Given the description of an element on the screen output the (x, y) to click on. 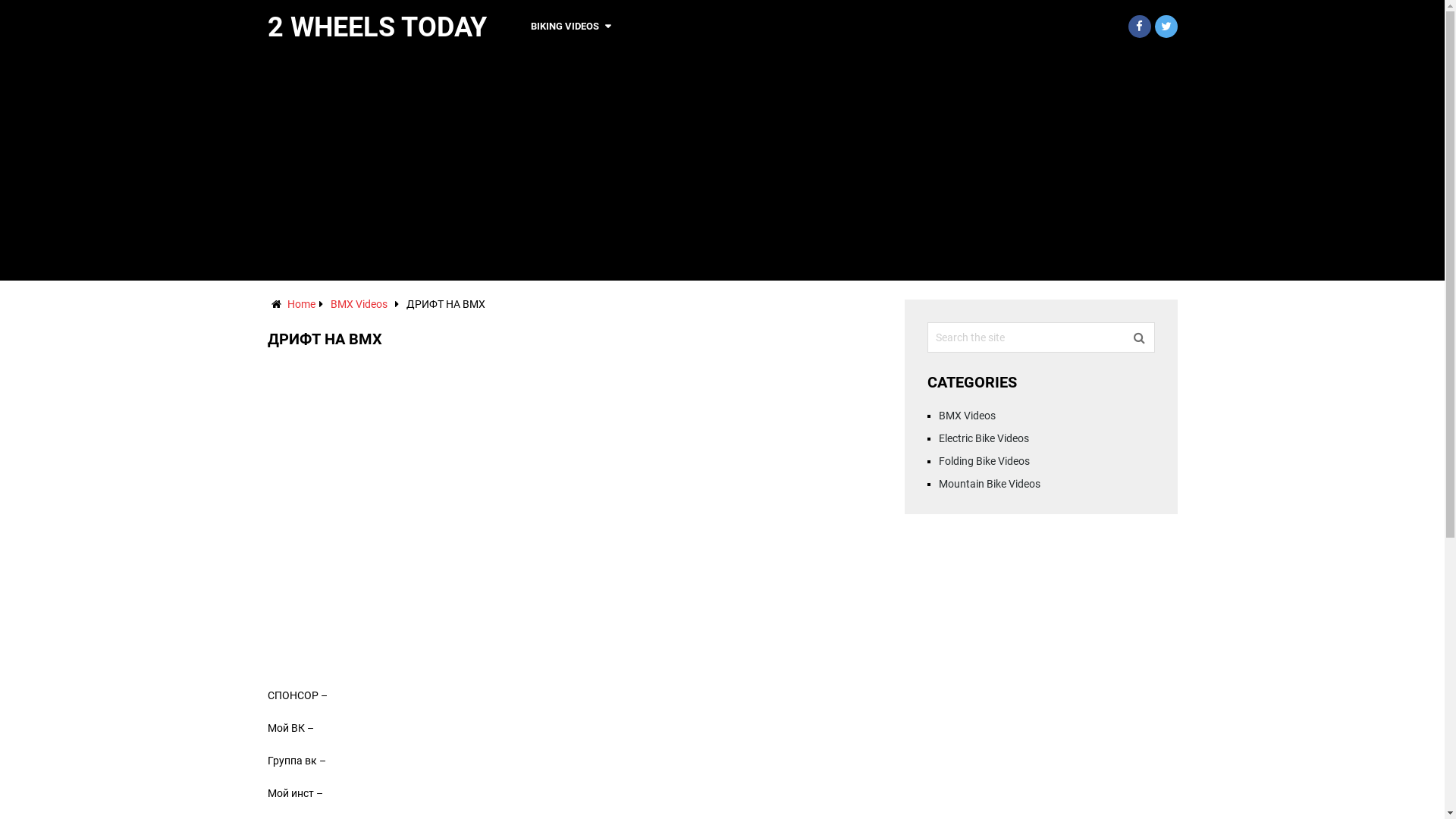
Electric Bike Videos Element type: text (983, 438)
Home Element type: text (300, 304)
2 WHEELS TODAY Element type: text (376, 26)
Folding Bike Videos Element type: text (983, 461)
BMX Videos Element type: text (358, 304)
Advertisement Element type: hover (721, 166)
BMX Videos Element type: text (966, 415)
Mountain Bike Videos Element type: text (989, 483)
BIKING VIDEOS Element type: text (570, 26)
